Given the description of an element on the screen output the (x, y) to click on. 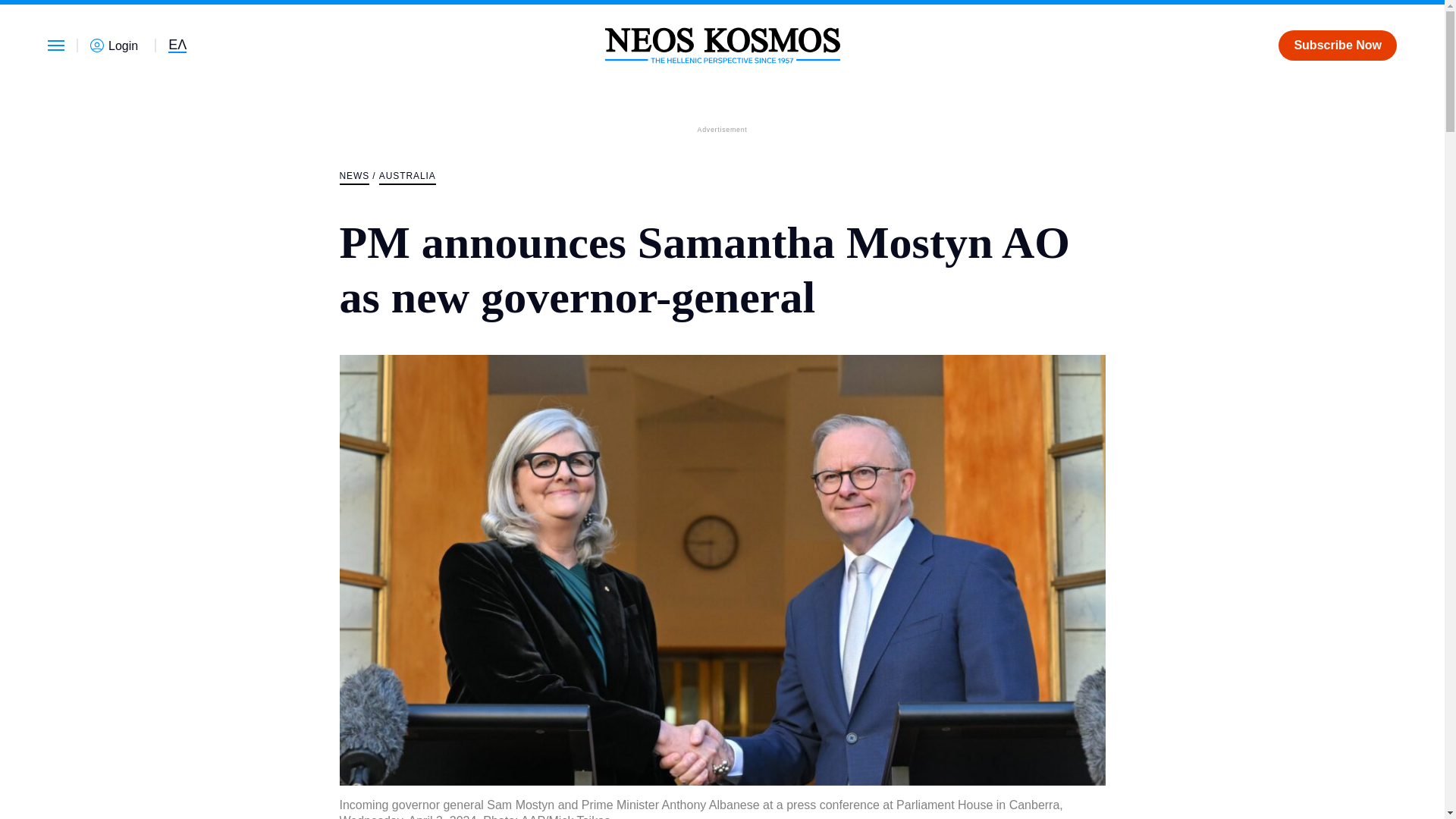
Subscribe Now (1337, 45)
Main navigation (56, 45)
Subscribe Now (1337, 45)
Login (116, 45)
